Given the description of an element on the screen output the (x, y) to click on. 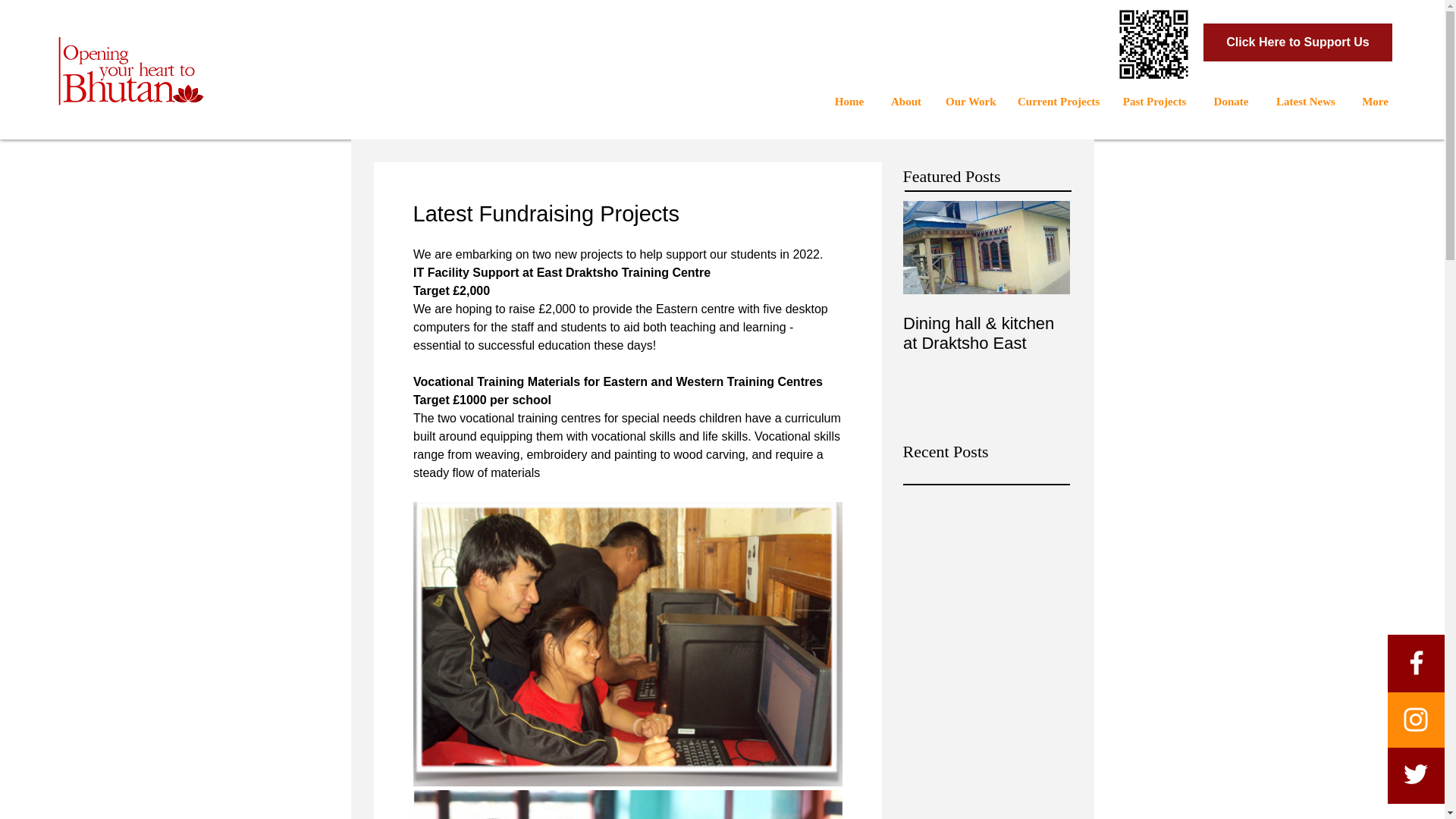
Past Projects (1154, 101)
Current Projects (1057, 101)
Click Here to Support Us (1297, 42)
Our Work (970, 101)
Home (849, 101)
Latest News (1305, 101)
JustGivingOYHTB.png (1153, 43)
Donate (1230, 101)
